Given the description of an element on the screen output the (x, y) to click on. 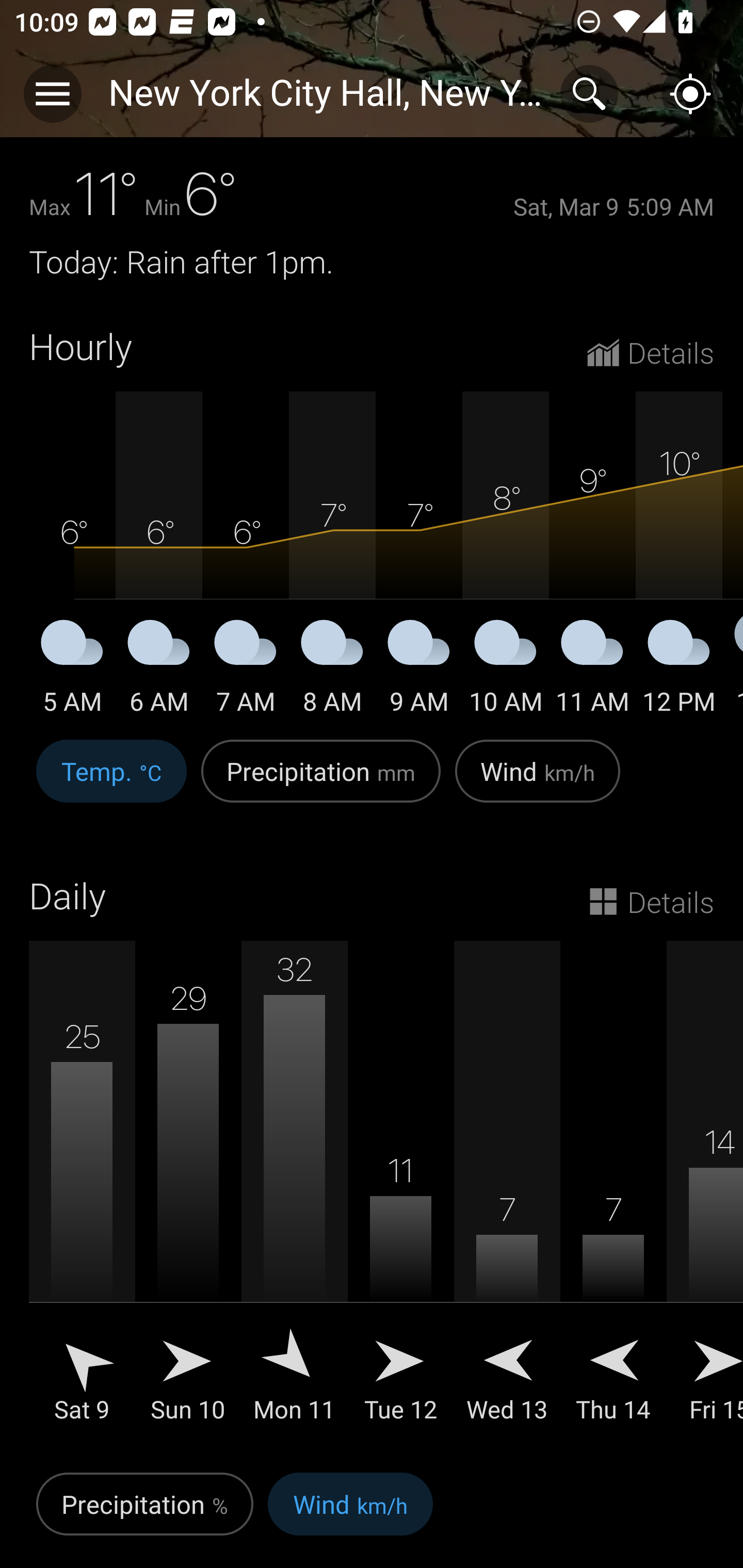
Severe Weather Alerts Gale Watch  (371, 103)
5 AM 6 AM 7 AM 8 AM 9 AM 10 AM 11 AM 12 PM 1 PM (371, 554)
5 AM (71, 670)
6 AM (158, 670)
7 AM (245, 670)
8 AM (332, 670)
9 AM (418, 670)
10 AM (505, 670)
11 AM (592, 670)
12 PM (679, 670)
Temp. °C (110, 781)
Precipitation mm (320, 781)
Wind km/h (537, 781)
25  Sat 9 (81, 1195)
29  Sun 10 (188, 1195)
32  Mon 11 (294, 1195)
11  Tue 12 (400, 1195)
7  Wed 13 (506, 1195)
7  Thu 14 (613, 1195)
14  Fri 15 (704, 1195)
Precipitation % (144, 1515)
Wind km/h (349, 1515)
